Given the description of an element on the screen output the (x, y) to click on. 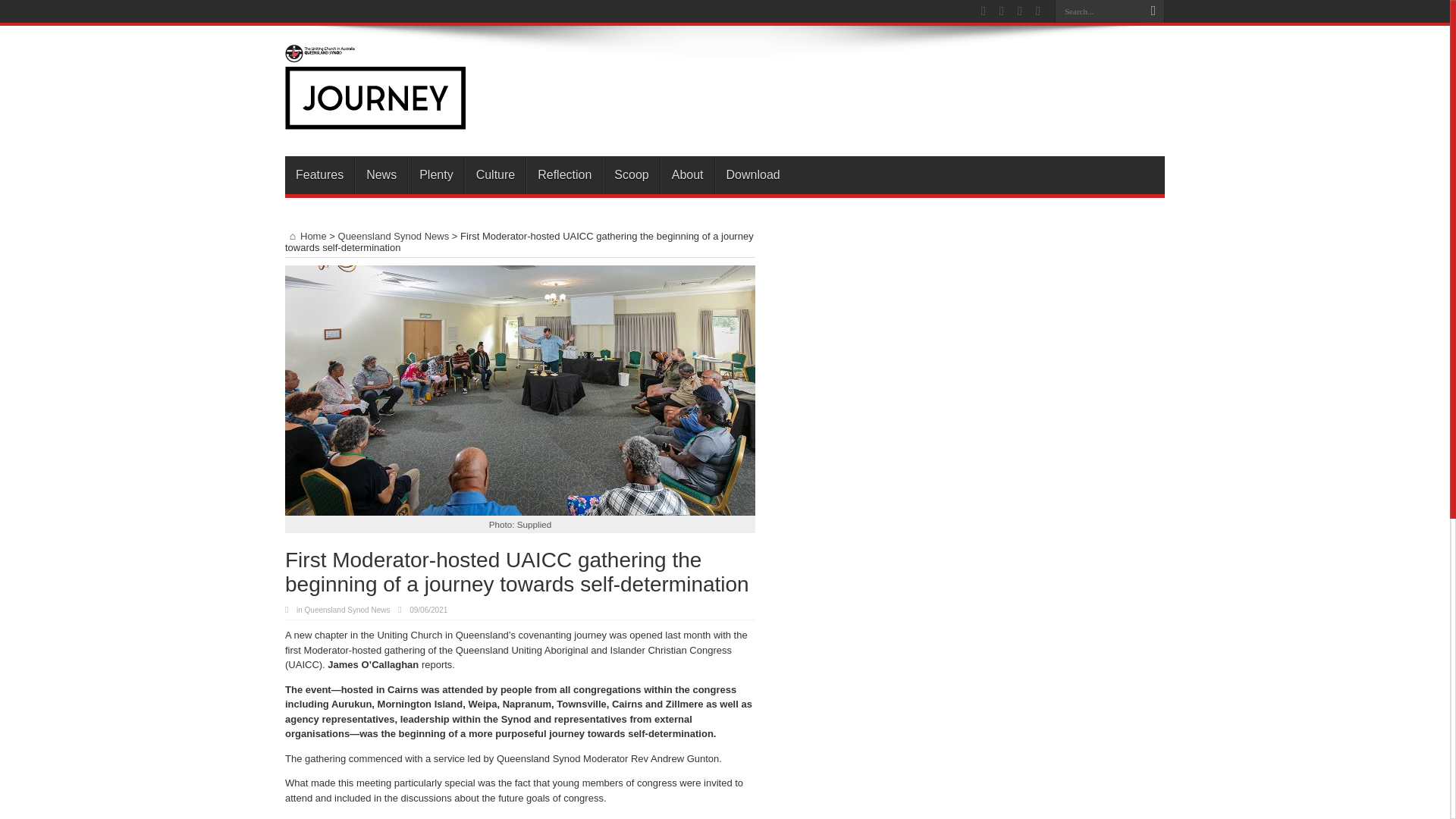
JourneyOnline (375, 117)
Home (305, 235)
Scoop (630, 175)
Queensland Synod News (393, 235)
Plenty (435, 175)
About (687, 175)
Reflection (563, 175)
Download (752, 175)
Search (1152, 11)
Features (319, 175)
Search... (1097, 11)
News (381, 175)
Queensland Synod News (347, 610)
Culture (494, 175)
